Given the description of an element on the screen output the (x, y) to click on. 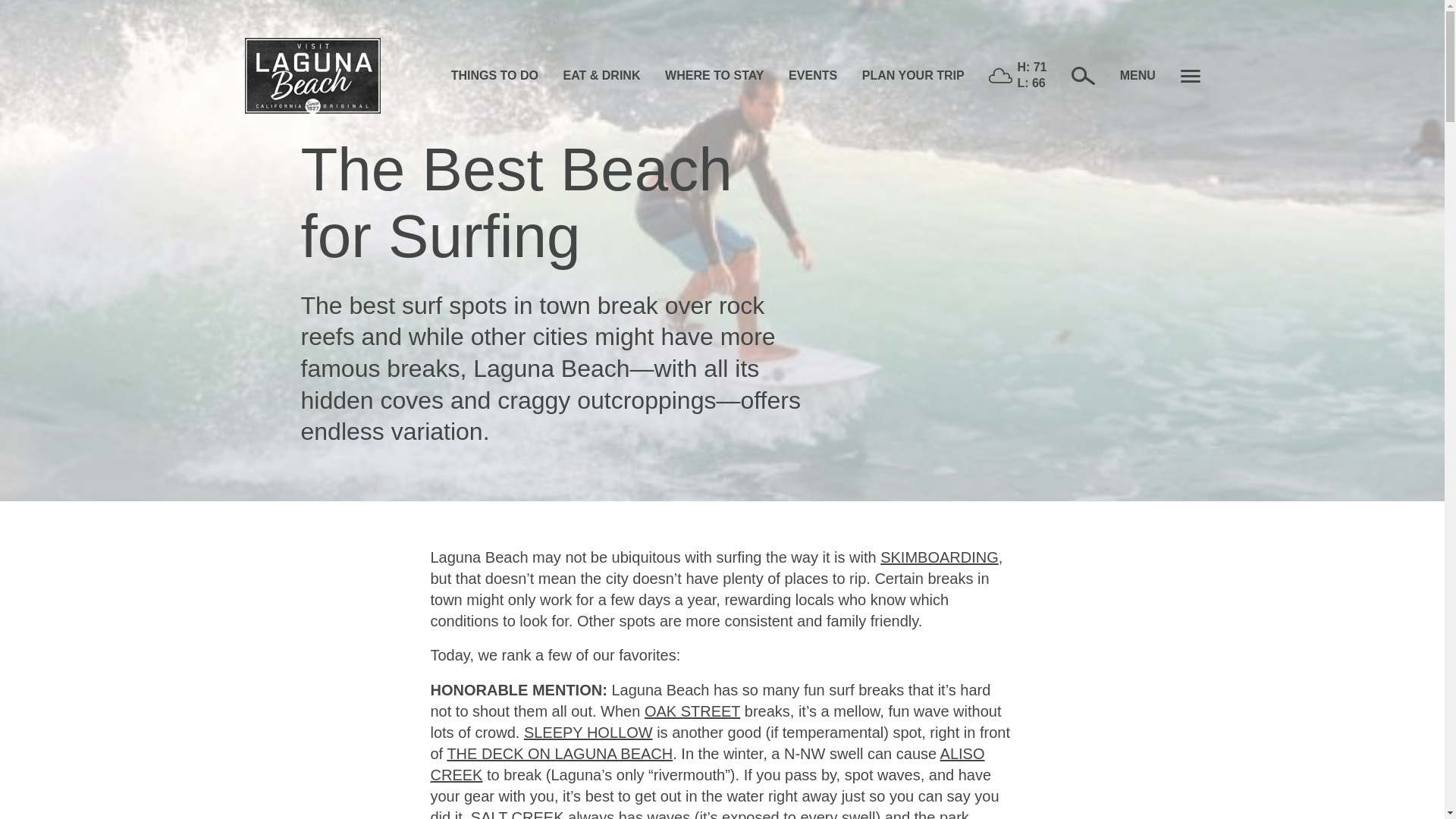
MENU (1159, 75)
WHERE TO STAY (713, 75)
THINGS TO DO (494, 75)
PLAN YOUR TRIP (912, 75)
EVENTS (813, 75)
